Given the description of an element on the screen output the (x, y) to click on. 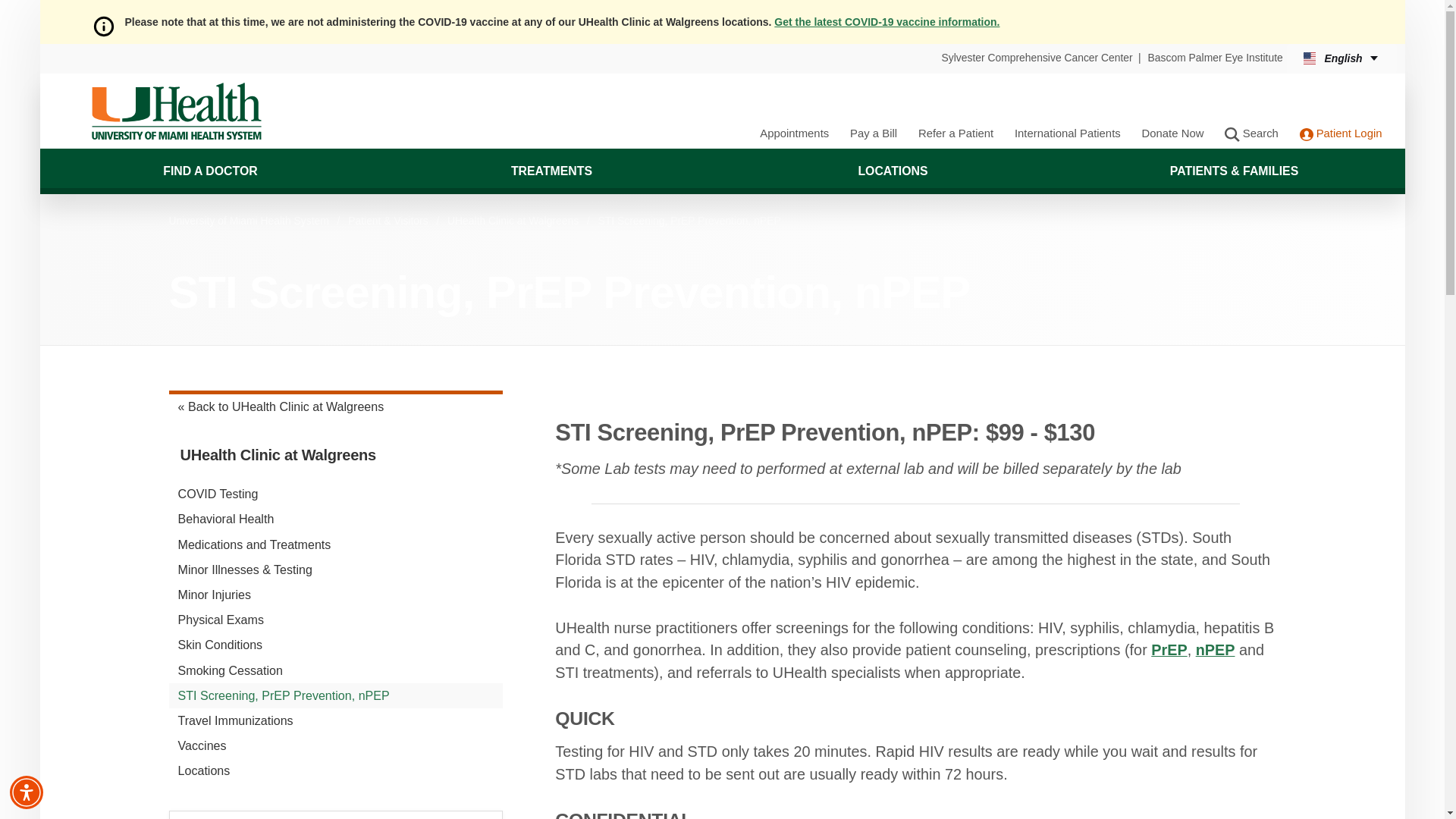
Bascom Palmer Eye Institute (1215, 57)
Sylvester Comprehensive Cancer Center (1037, 57)
logo (176, 111)
International Patients (1067, 133)
Search (1251, 133)
Get the latest COVID-19 vaccine information. (886, 21)
Appointments (794, 133)
FIND A DOCTOR (209, 171)
Donate Now (1172, 133)
English (1341, 58)
Accessibility Menu (26, 792)
University of Miami Health System (176, 111)
Patient Login (1340, 133)
TREATMENTS (551, 171)
